Given the description of an element on the screen output the (x, y) to click on. 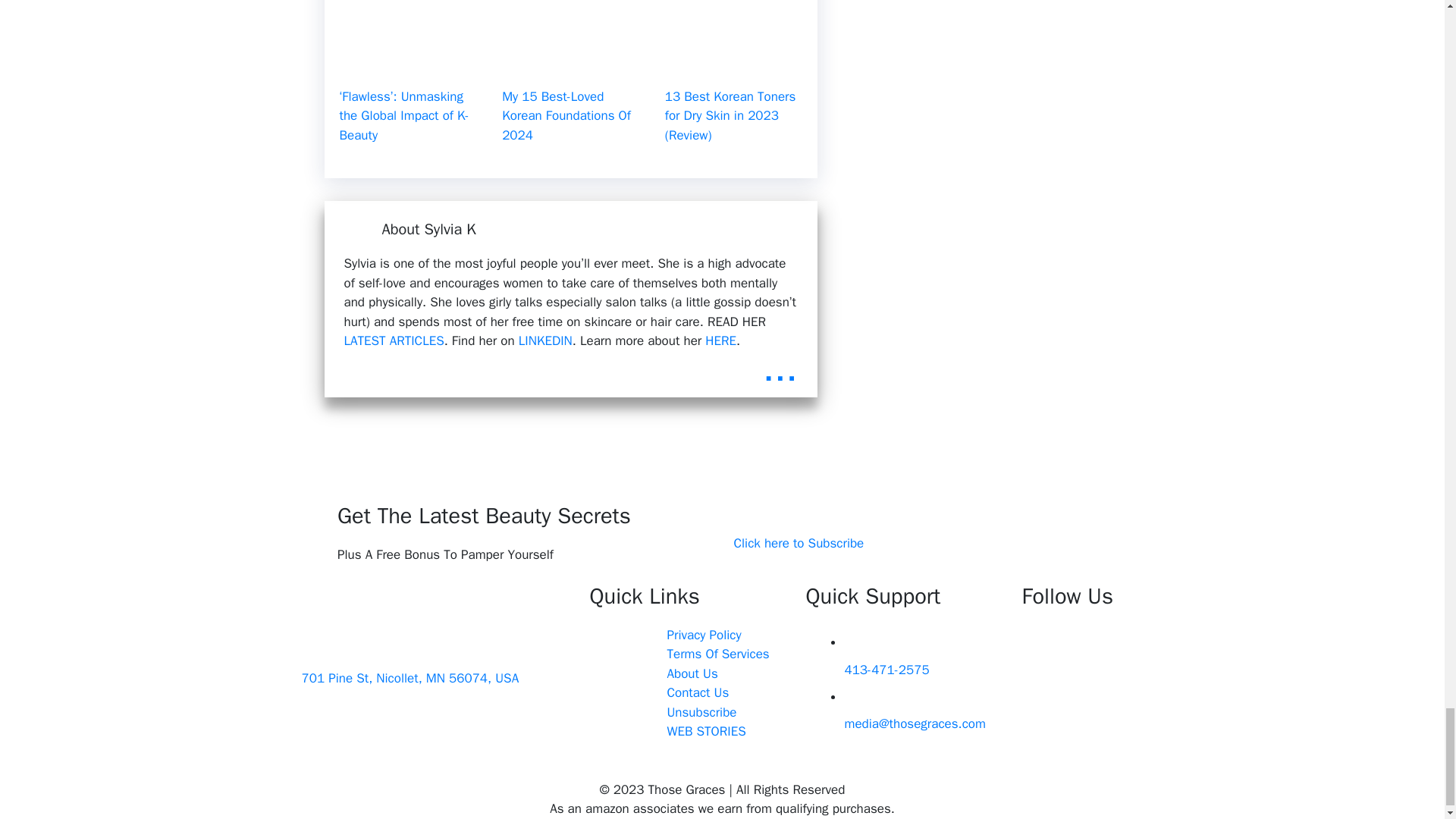
LATEST ARTICLES (393, 340)
Privacy Policy (703, 634)
Read more (779, 368)
My 15 Best-Loved Korean Foundations Of 2024 (570, 64)
... (779, 368)
HERE (720, 340)
LINKEDIN (545, 340)
701 Pine St, Nicollet, MN 56074, USA (410, 678)
My 15 Best-Loved Korean Foundations Of 2024 (566, 115)
Terms Of Services (717, 653)
Click here to Subscribe (798, 543)
